Given the description of an element on the screen output the (x, y) to click on. 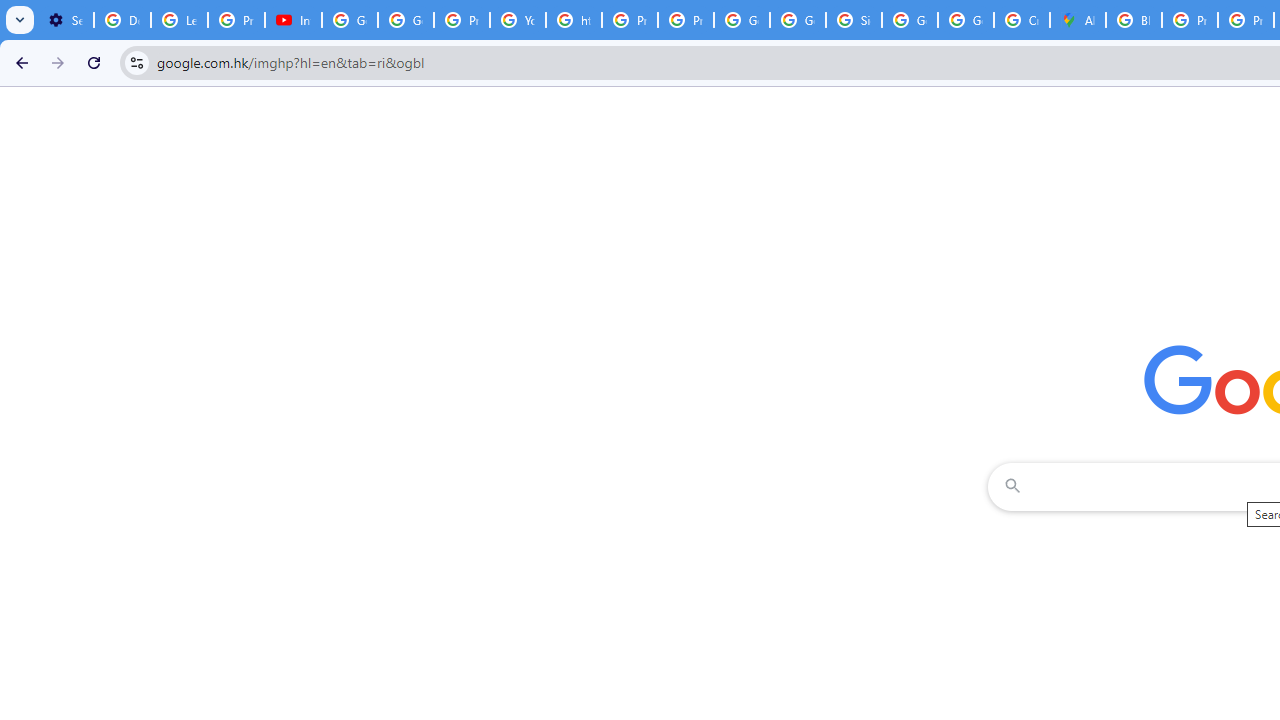
YouTube (518, 20)
Privacy Help Center - Policies Help (1190, 20)
Blogger Policies and Guidelines - Transparency Center (1133, 20)
Settings - Customize profile (65, 20)
Delete photos & videos - Computer - Google Photos Help (122, 20)
Introduction | Google Privacy Policy - YouTube (293, 20)
Google Account Help (349, 20)
Google Account Help (405, 20)
